Given the description of an element on the screen output the (x, y) to click on. 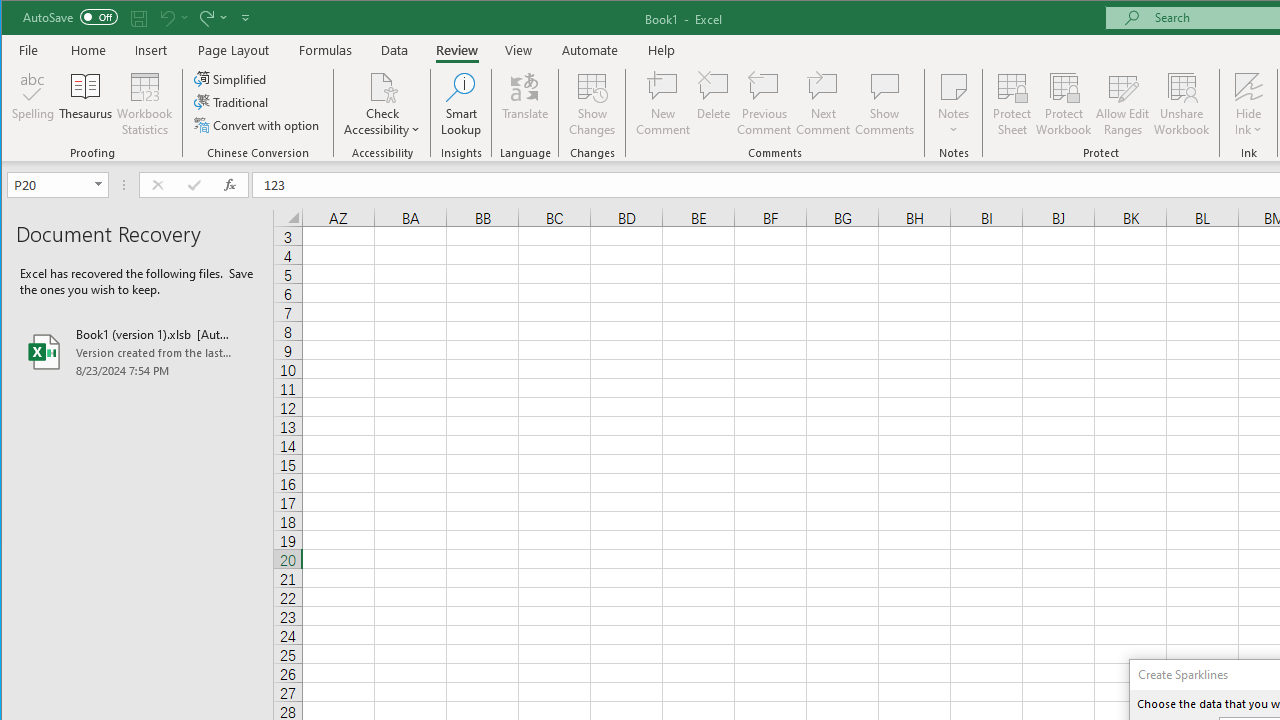
Show Changes (592, 104)
Traditional (232, 101)
Workbook Statistics (145, 104)
Notes (954, 104)
Protect Workbook... (1064, 104)
New Comment (662, 104)
Thesaurus... (86, 104)
